Given the description of an element on the screen output the (x, y) to click on. 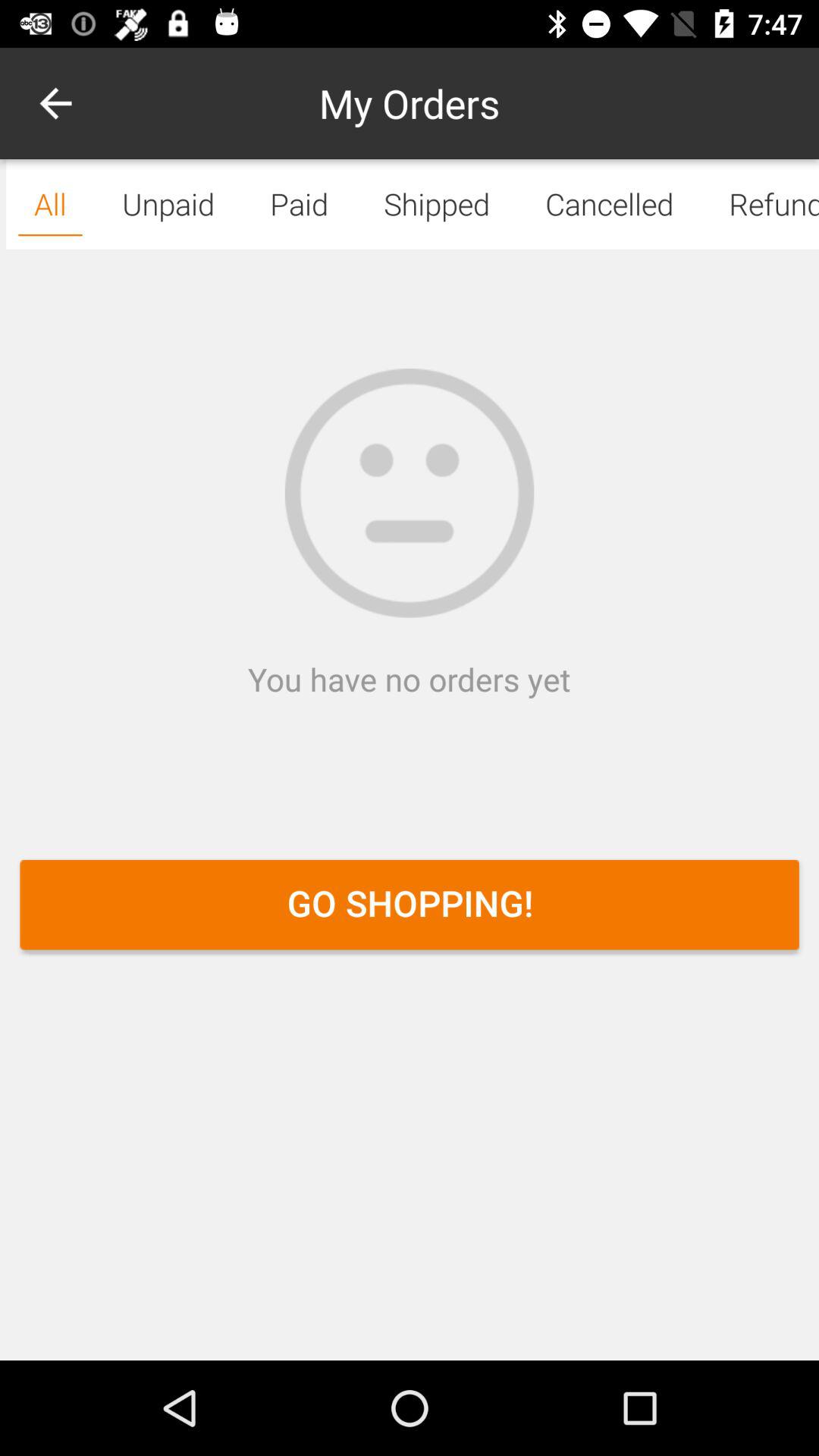
open the icon next to paid icon (55, 103)
